Given the description of an element on the screen output the (x, y) to click on. 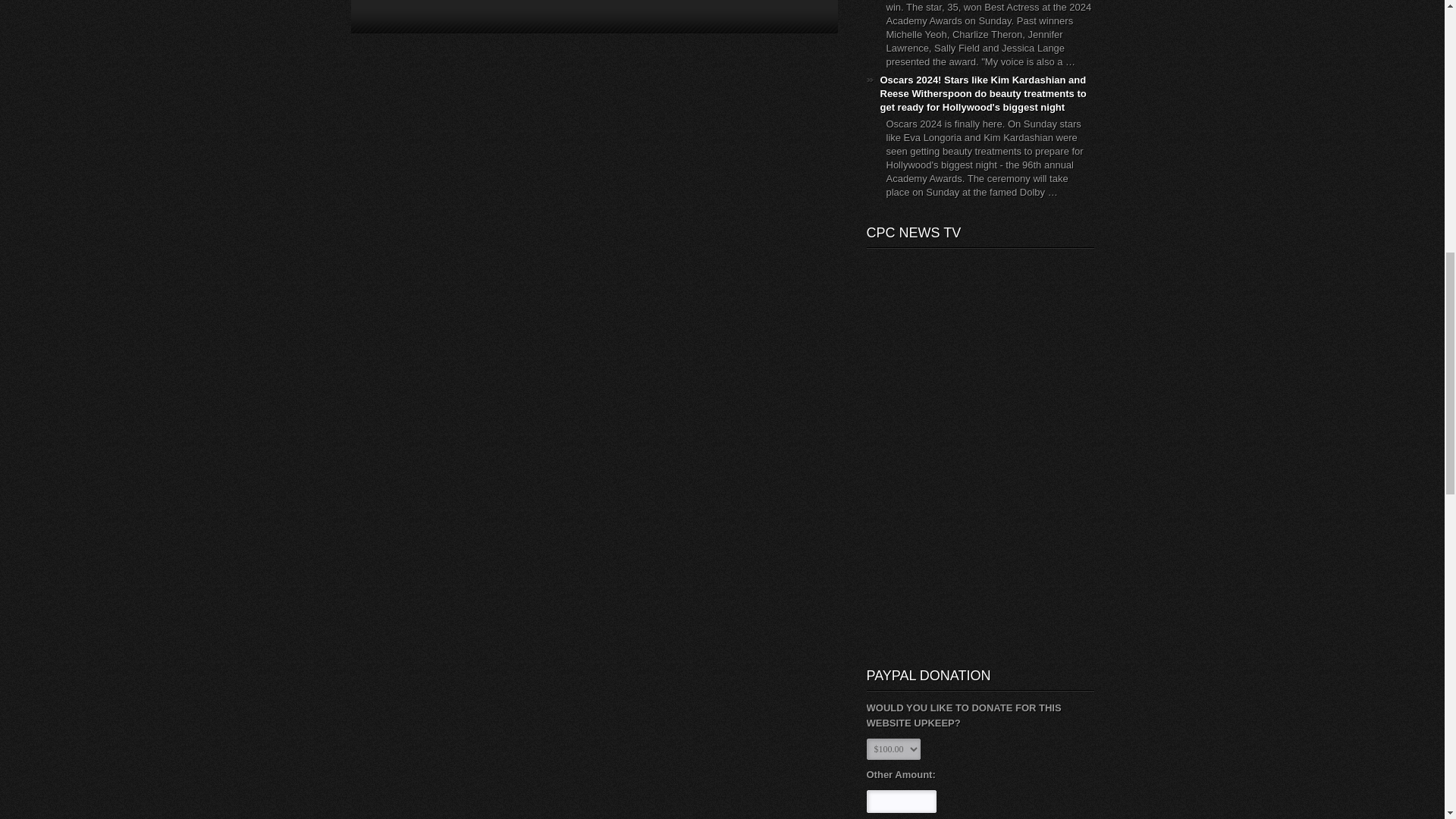
YouTube video player (941, 452)
YouTube video player (941, 320)
YouTube video player (941, 583)
Other Amount (901, 801)
